Given the description of an element on the screen output the (x, y) to click on. 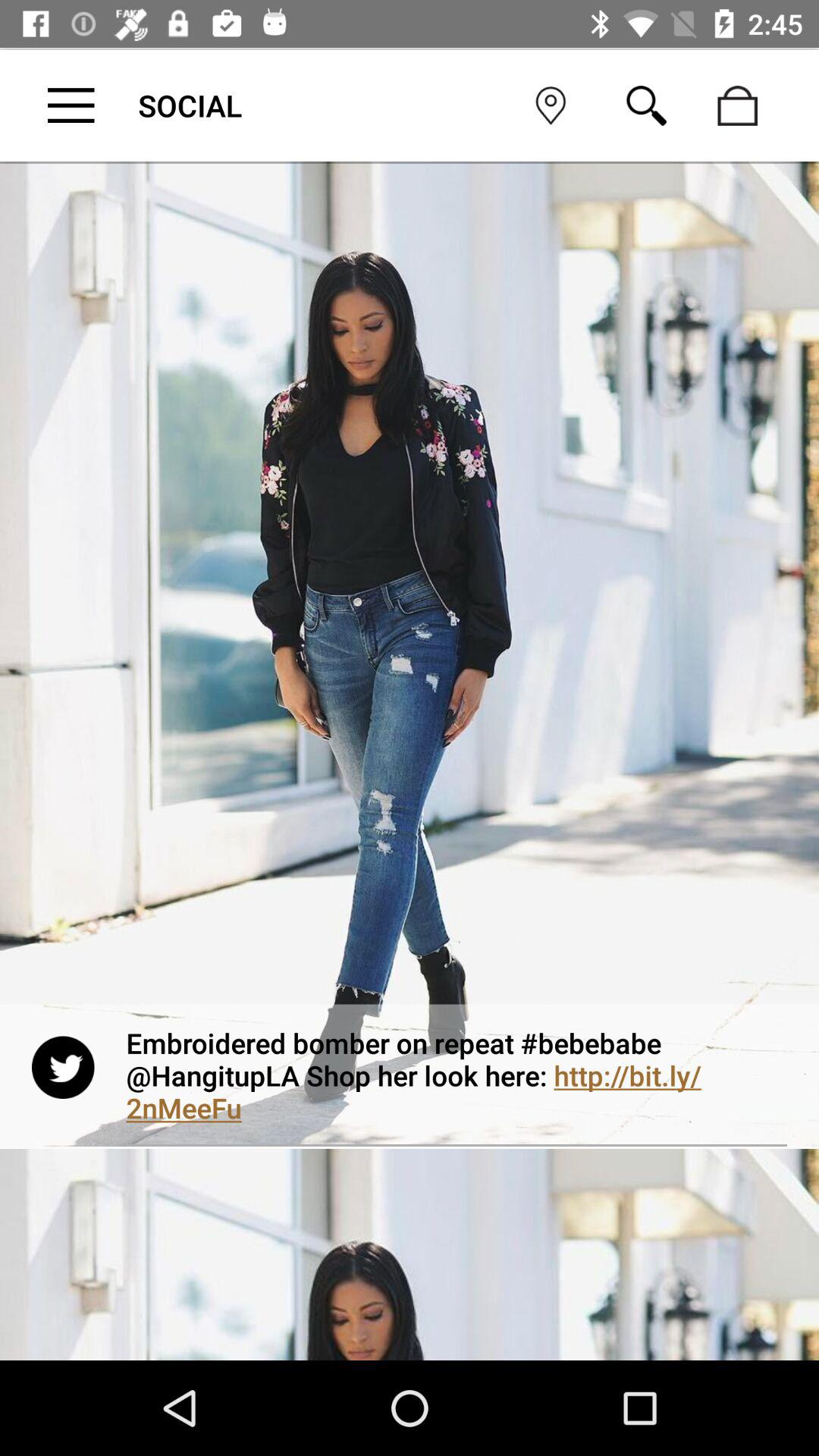
open settings (70, 105)
